Given the description of an element on the screen output the (x, y) to click on. 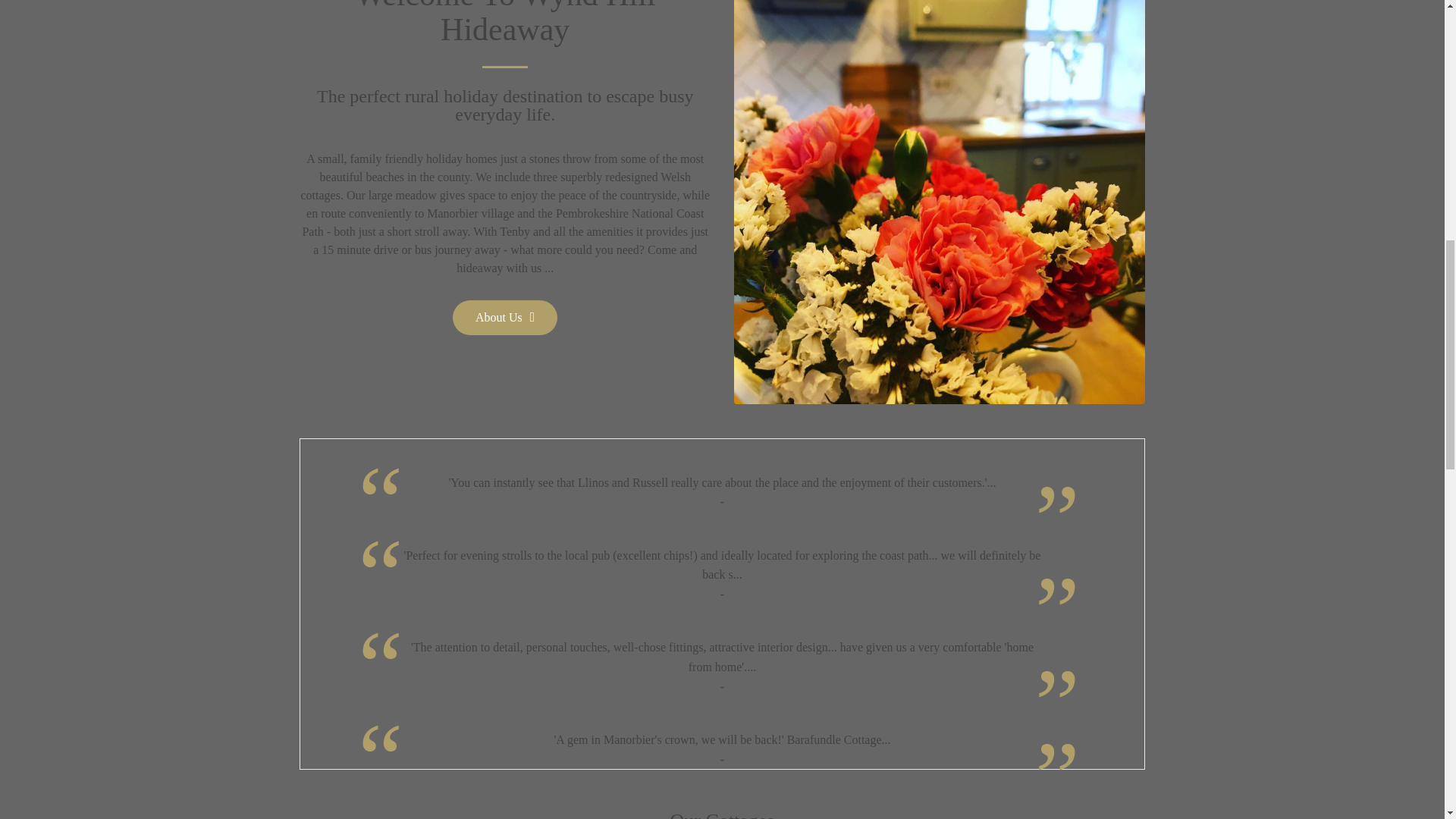
About Us (504, 317)
